Given the description of an element on the screen output the (x, y) to click on. 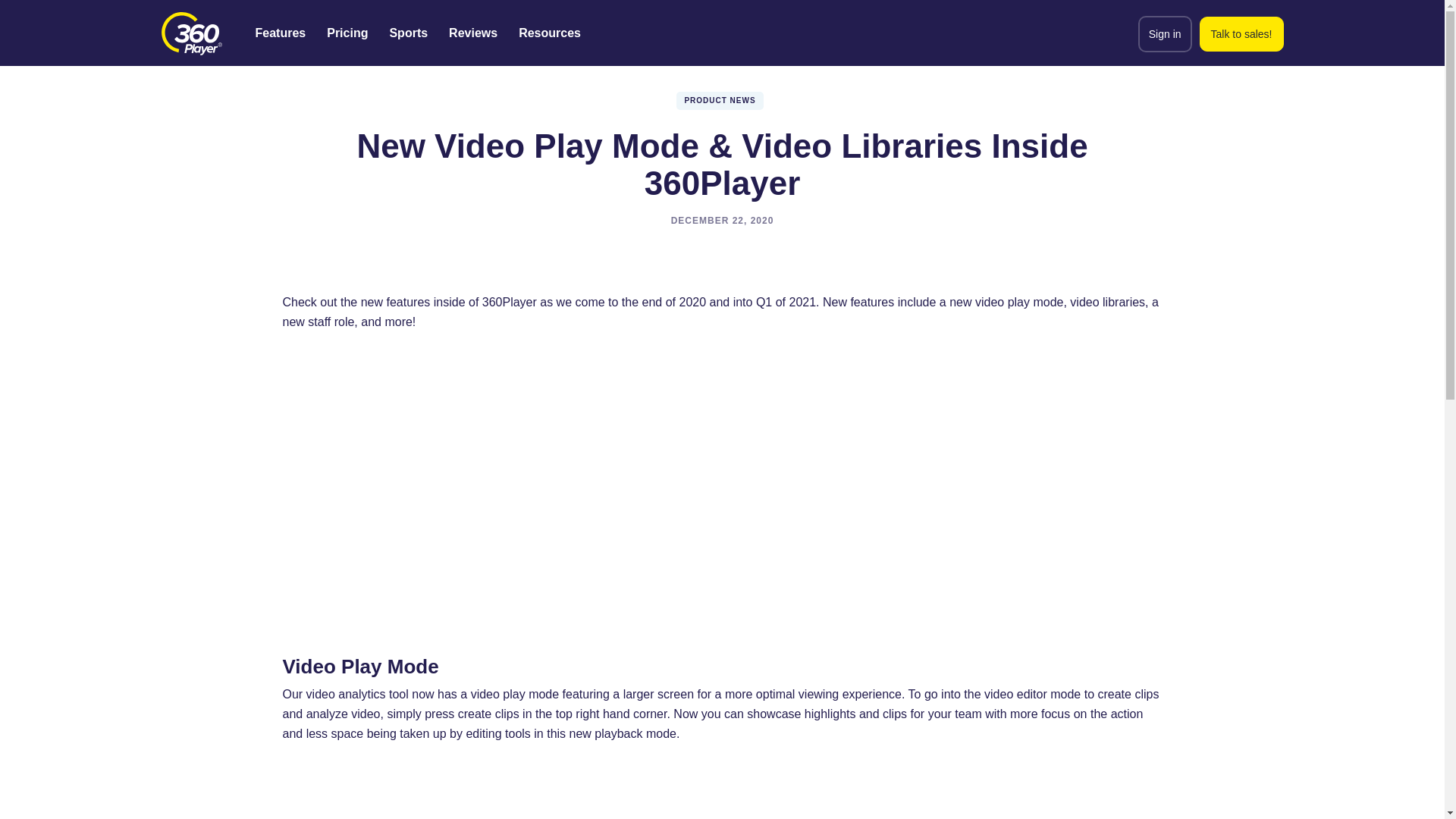
Talk to sales! (1241, 33)
Pricing (346, 33)
Sign in (1165, 33)
PRODUCT NEWS (721, 100)
Reviews (473, 33)
